Given the description of an element on the screen output the (x, y) to click on. 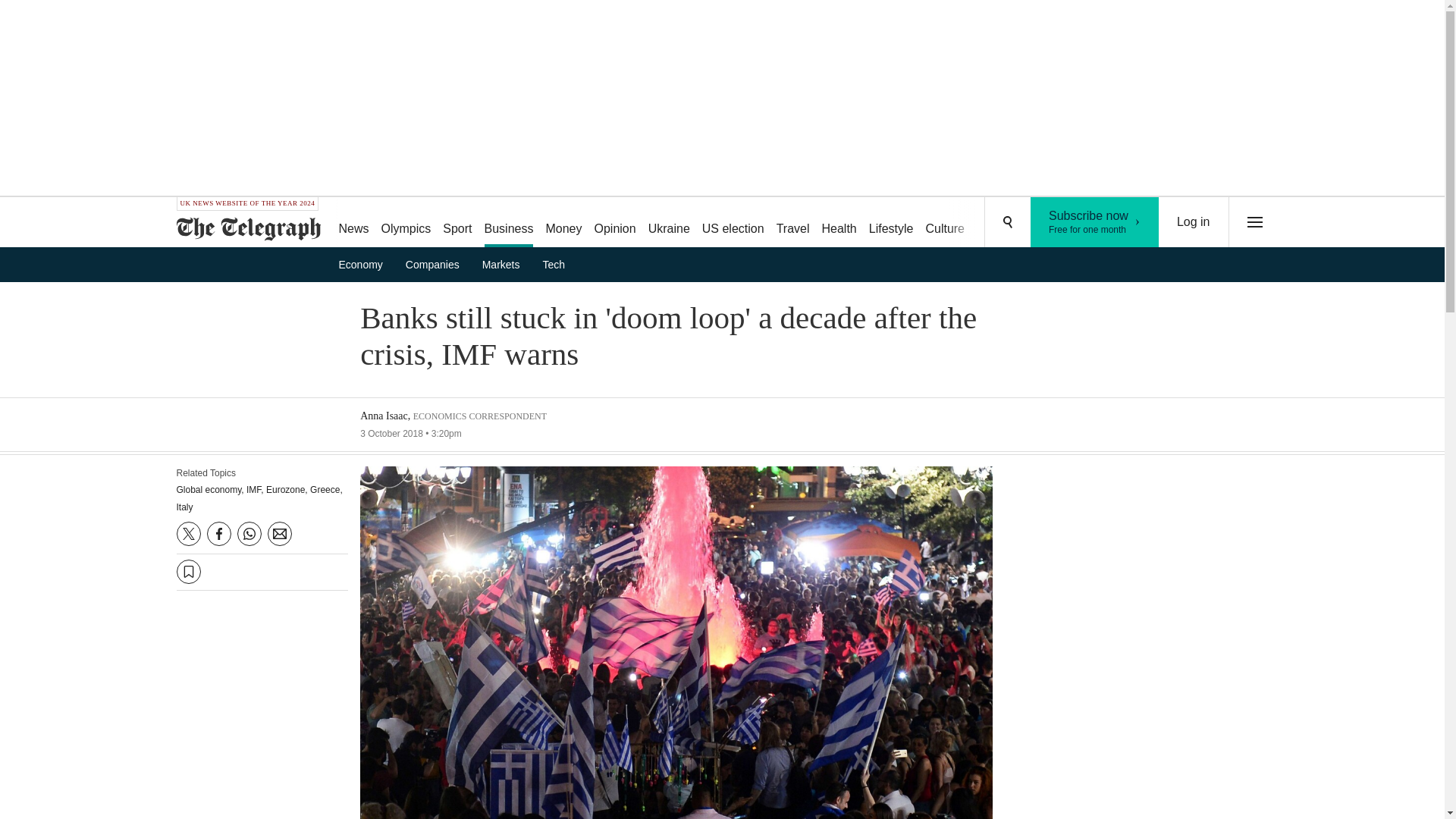
Money (563, 223)
Travel (792, 223)
Culture (944, 223)
Economy (364, 264)
Business (509, 223)
Olympics (406, 223)
US election (732, 223)
Health (838, 223)
Opinion (615, 223)
Ukraine (668, 223)
Puzzles (998, 223)
Lifestyle (891, 223)
Companies (437, 264)
Podcasts (1094, 222)
